Given the description of an element on the screen output the (x, y) to click on. 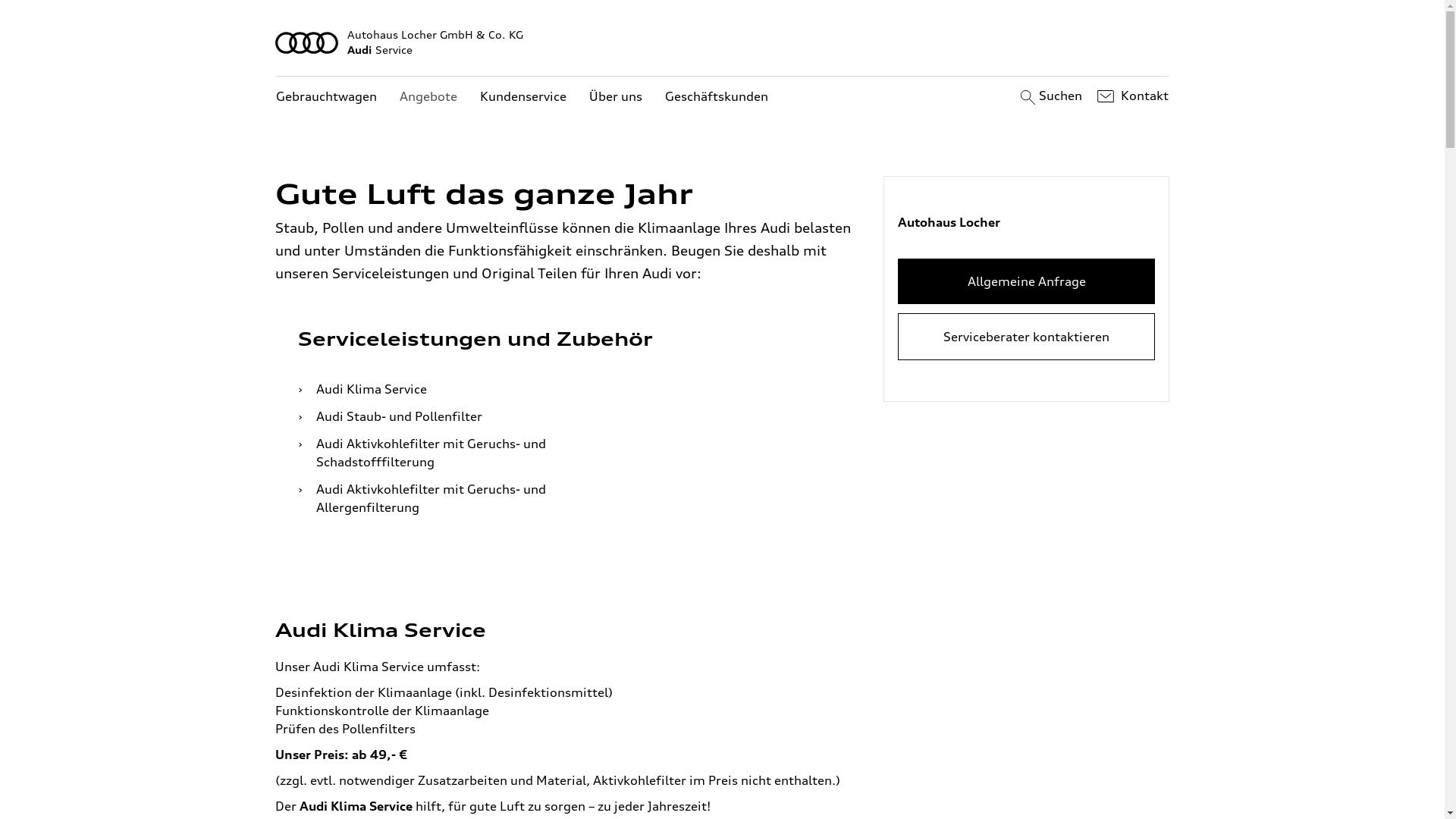
Angebote Element type: text (428, 96)
Autohaus Locher GmbH & Co. KG
AudiService Element type: text (722, 42)
Gebrauchtwagen Element type: text (326, 96)
Kontakt Element type: text (1130, 96)
Allgemeine Anfrage Element type: text (1025, 281)
Kundenservice Element type: text (523, 96)
Suchen Element type: text (1049, 96)
Serviceberater kontaktieren Element type: text (1025, 336)
